Given the description of an element on the screen output the (x, y) to click on. 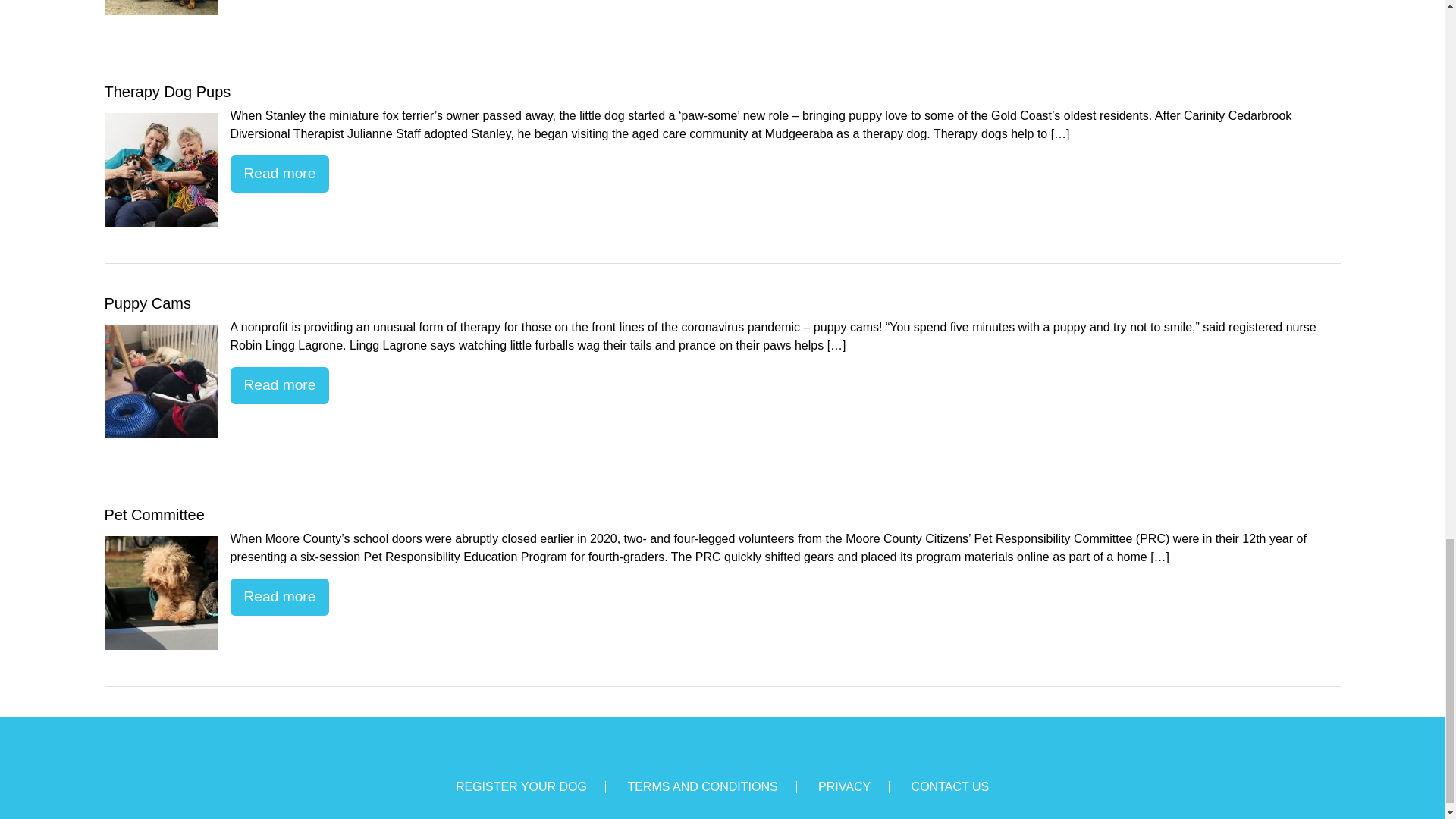
TERMS AND CONDITIONS (702, 786)
Pet Committee (161, 593)
PRIVACY (844, 786)
Therapy Dogtor (161, 7)
Read more (280, 596)
REGISTER YOUR DOG (520, 786)
Read more (280, 385)
Therapy Dog Pups (161, 169)
Puppy Cams (161, 381)
Read more (280, 173)
